Given the description of an element on the screen output the (x, y) to click on. 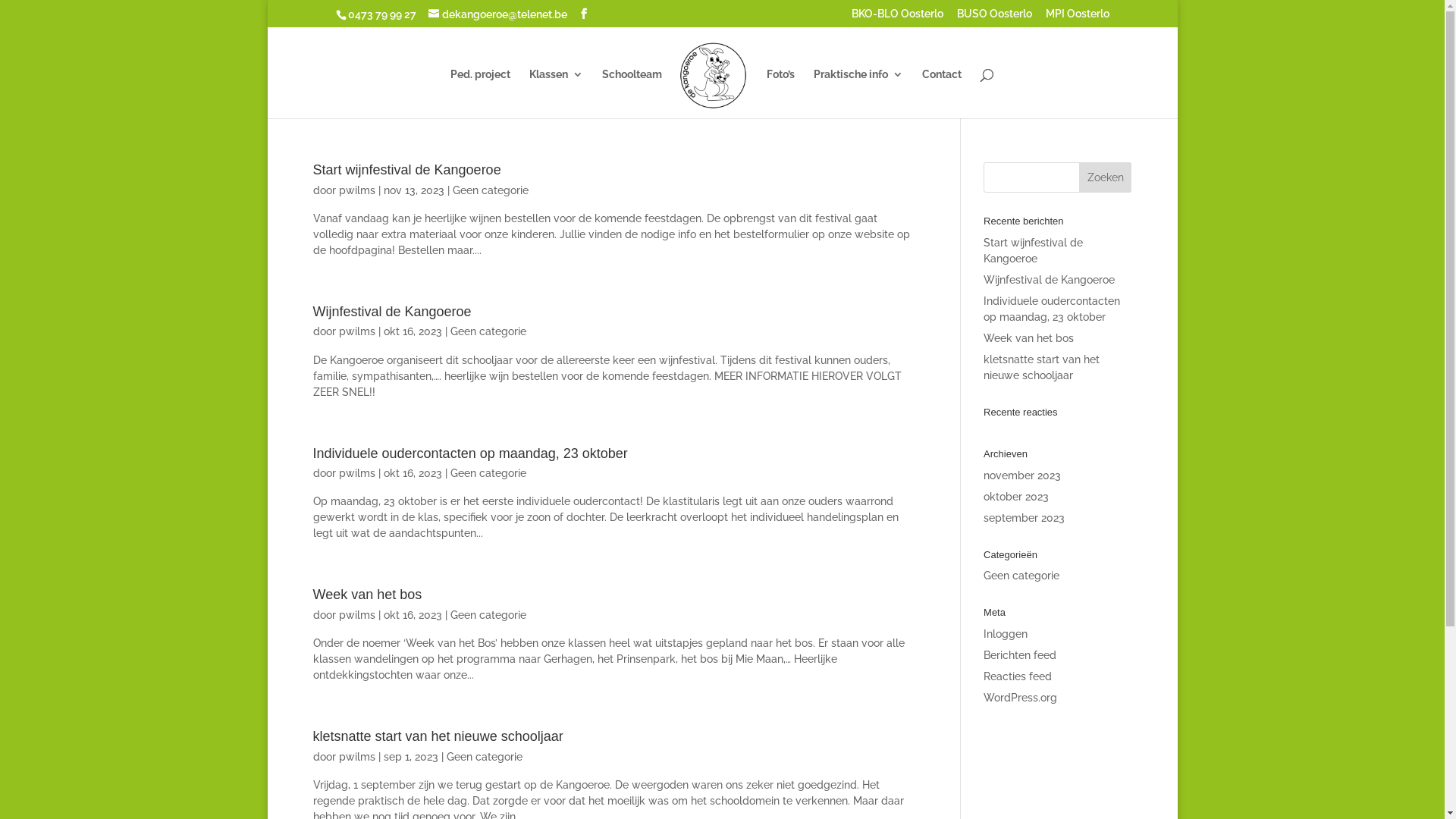
Zoeken Element type: text (1105, 177)
BUSO Oosterlo Element type: text (994, 16)
Start wijnfestival de Kangoeroe Element type: text (1032, 250)
WordPress.org Element type: text (1020, 697)
Praktische info Element type: text (858, 93)
Wijnfestival de Kangoeroe Element type: text (1048, 279)
oktober 2023 Element type: text (1015, 496)
Geen categorie Element type: text (488, 614)
Reacties feed Element type: text (1017, 676)
november 2023 Element type: text (1021, 475)
Start wijnfestival de Kangoeroe Element type: text (406, 169)
Week van het bos Element type: text (1028, 338)
kletsnatte start van het nieuwe schooljaar Element type: text (437, 735)
Klassen Element type: text (556, 93)
september 2023 Element type: text (1023, 517)
pwilms Element type: text (356, 331)
BKO-BLO Oosterlo Element type: text (896, 16)
pwilms Element type: text (356, 473)
Geen categorie Element type: text (483, 756)
Individuele oudercontacten op maandag, 23 oktober Element type: text (469, 453)
Geen categorie Element type: text (1021, 575)
Schoolteam Element type: text (632, 93)
Wijnfestival de Kangoeroe Element type: text (391, 311)
pwilms Element type: text (356, 614)
dekangoeroe@telenet.be Element type: text (496, 13)
kletsnatte start van het nieuwe schooljaar Element type: text (1041, 367)
Individuele oudercontacten op maandag, 23 oktober Element type: text (1051, 308)
Inloggen Element type: text (1005, 633)
MPI Oosterlo Element type: text (1076, 16)
Berichten feed Element type: text (1019, 655)
pwilms Element type: text (356, 190)
Geen categorie Element type: text (488, 331)
Geen categorie Element type: text (489, 190)
Geen categorie Element type: text (488, 473)
pwilms Element type: text (356, 756)
Ped. project Element type: text (480, 93)
Week van het bos Element type: text (366, 594)
Contact Element type: text (941, 93)
